Given the description of an element on the screen output the (x, y) to click on. 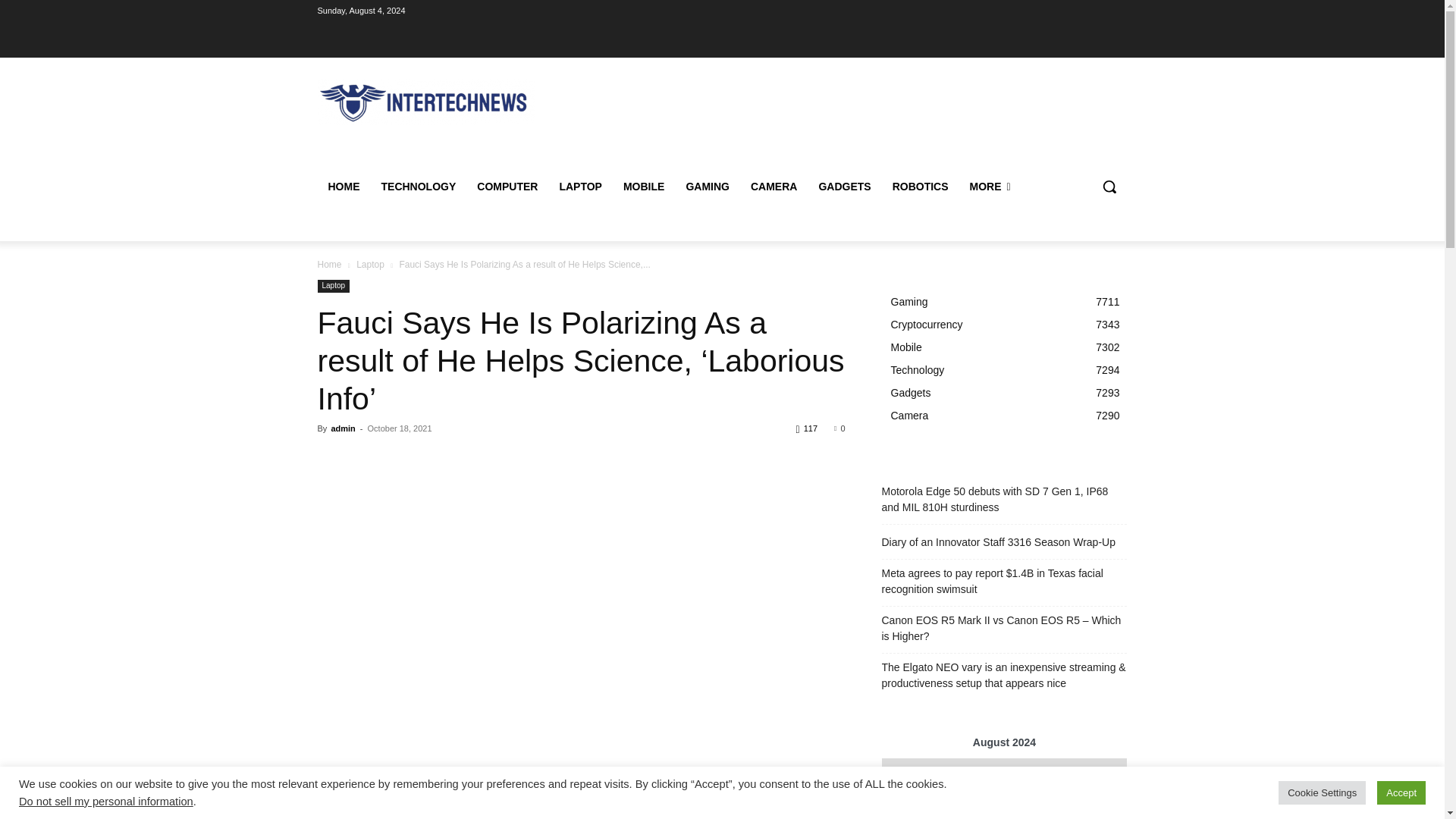
HOME (343, 186)
MORE (990, 186)
GADGETS (844, 186)
ROBOTICS (920, 186)
Home (328, 264)
CAMERA (773, 186)
COMPUTER (506, 186)
TECHNOLOGY (417, 186)
GAMING (707, 186)
MOBILE (643, 186)
LAPTOP (580, 186)
View all posts in Laptop (370, 264)
